Given the description of an element on the screen output the (x, y) to click on. 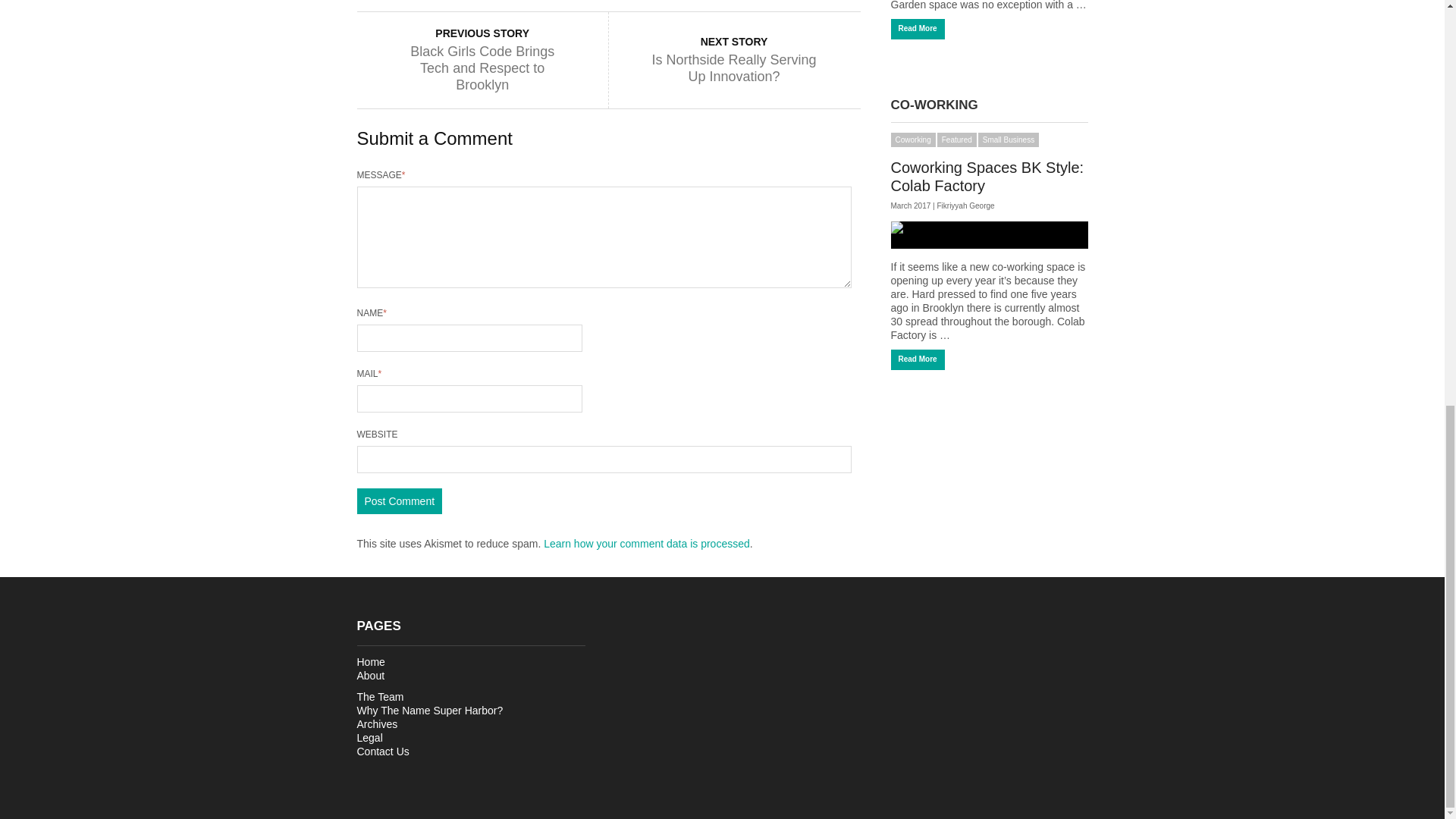
Permanent Link to Coworking Spaces BK Style: Colab Factory (988, 234)
Posts by Fikriyyah George (965, 205)
Post Comment (399, 501)
Permanent Link to Coworking Spaces BK Style: Colab Factory (986, 176)
